Given the description of an element on the screen output the (x, y) to click on. 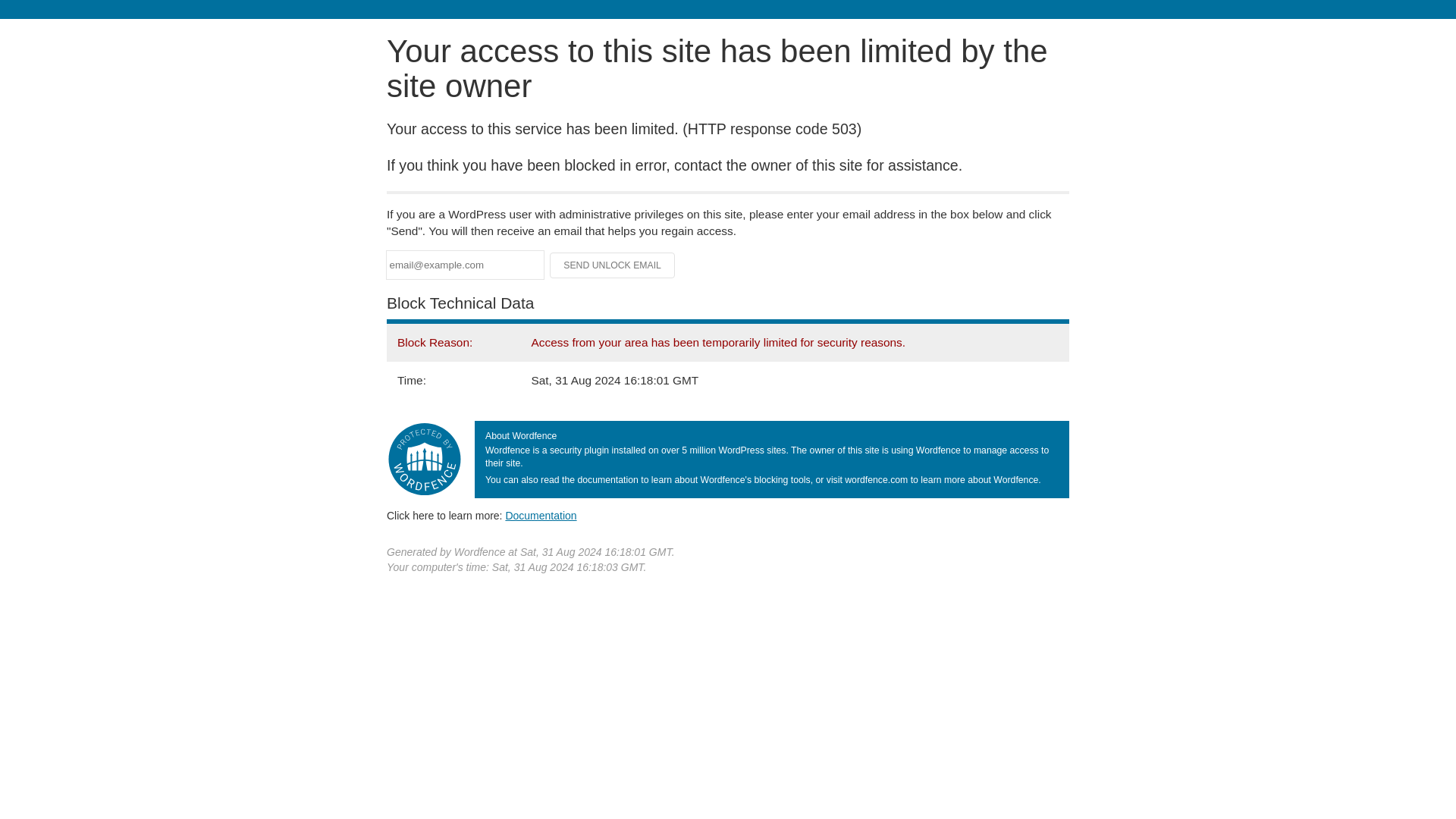
Send Unlock Email (612, 265)
Send Unlock Email (612, 265)
Documentation (540, 515)
